Given the description of an element on the screen output the (x, y) to click on. 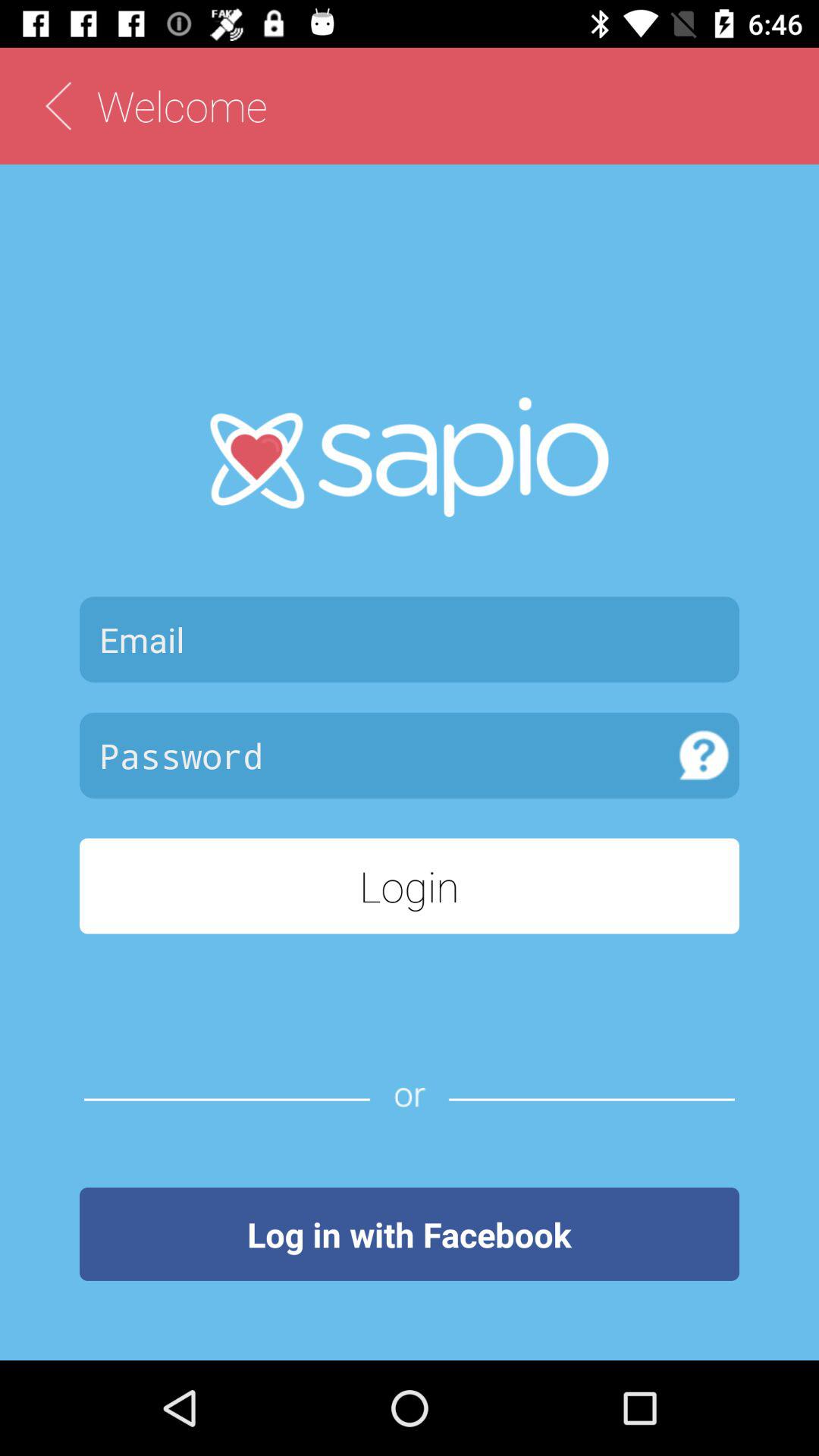
go back (57, 105)
